Given the description of an element on the screen output the (x, y) to click on. 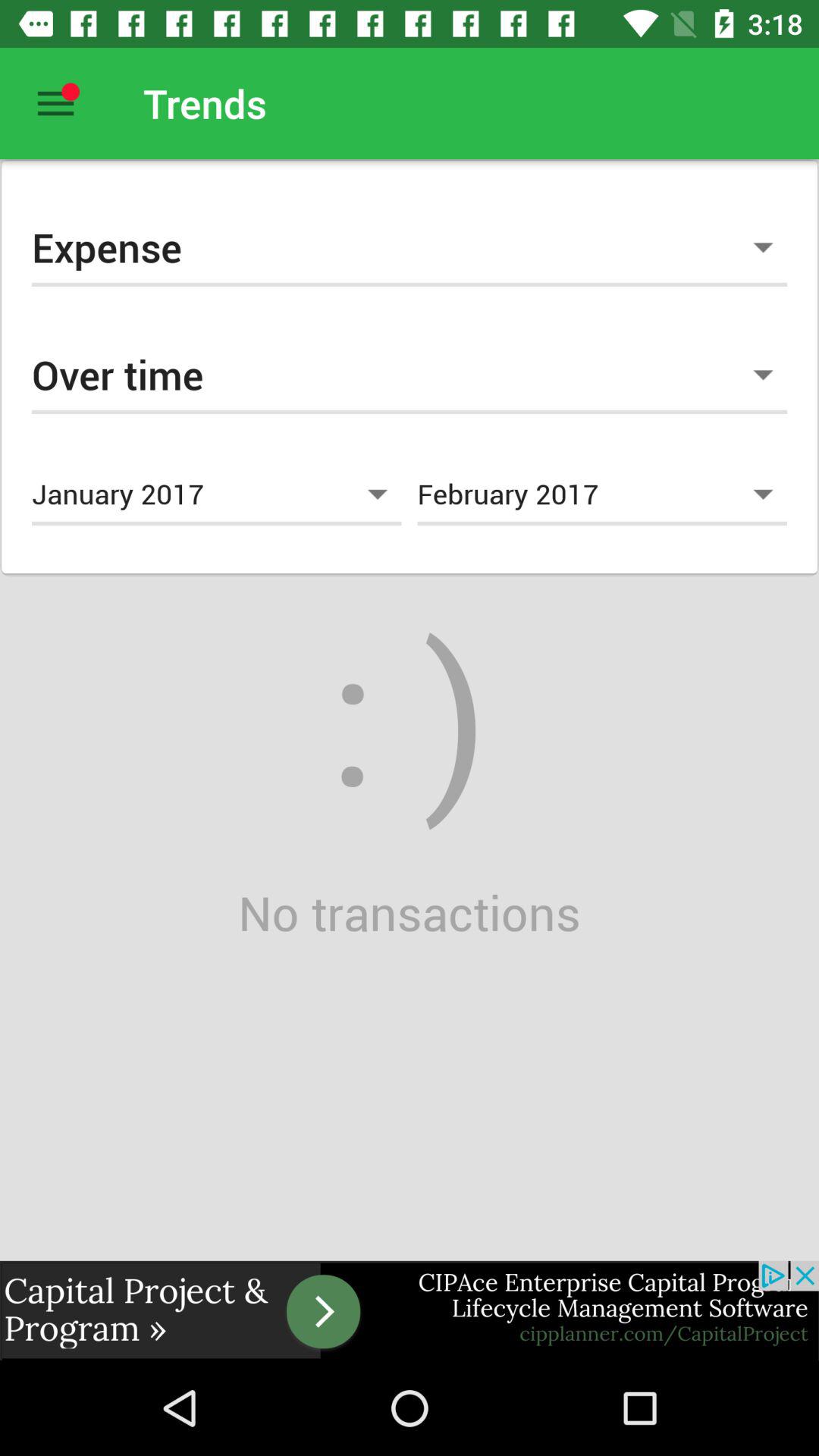
click for options (55, 103)
